Given the description of an element on the screen output the (x, y) to click on. 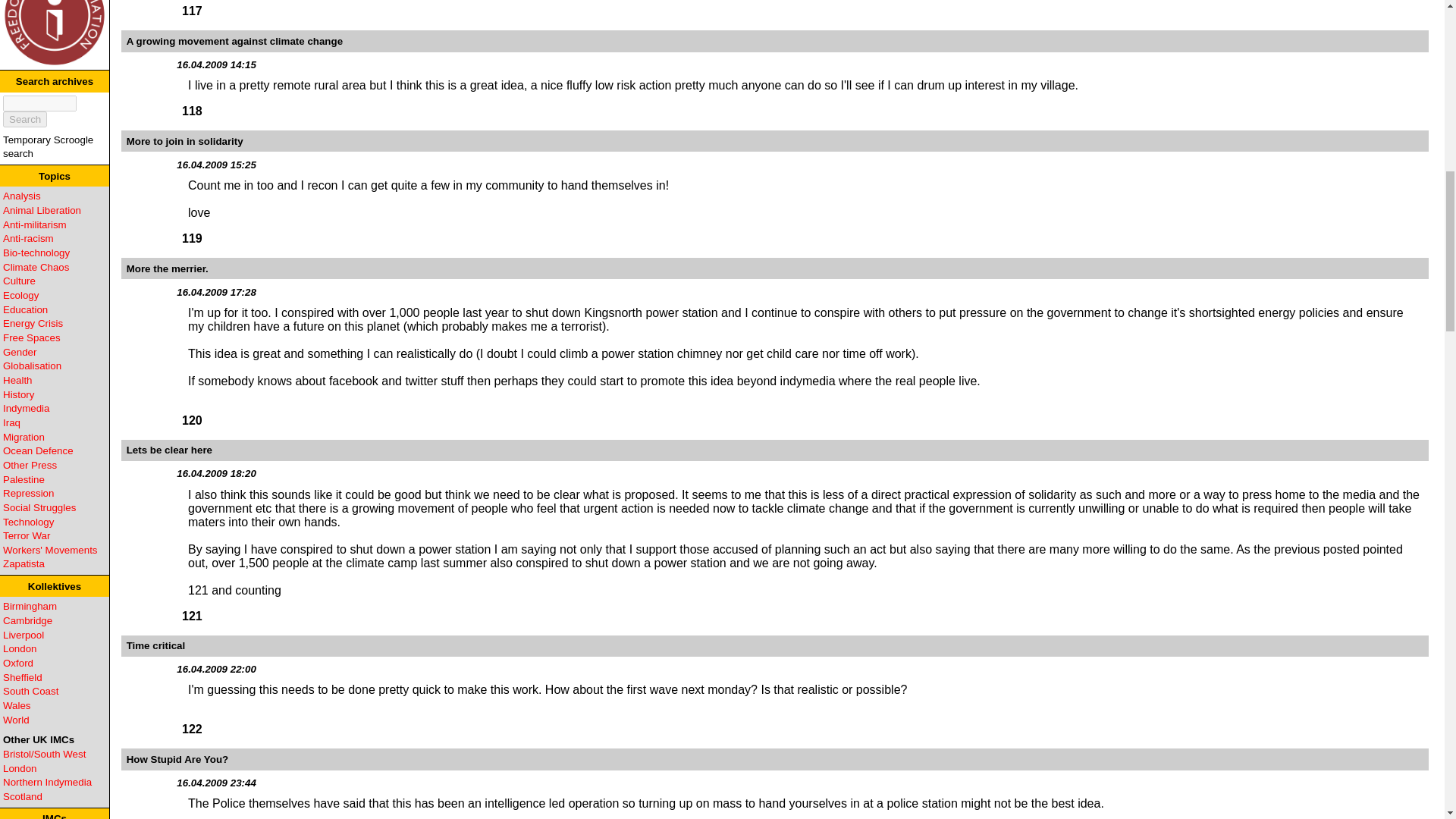
Palestine (23, 479)
Indymedia (25, 408)
Other Press (29, 464)
Free Spaces (31, 337)
Reporting on Climate Chaos and related actions. (35, 266)
Anti-militarism (34, 224)
History (17, 394)
Search (24, 119)
Animal Liberation (41, 210)
Anti-racism (27, 238)
